Given the description of an element on the screen output the (x, y) to click on. 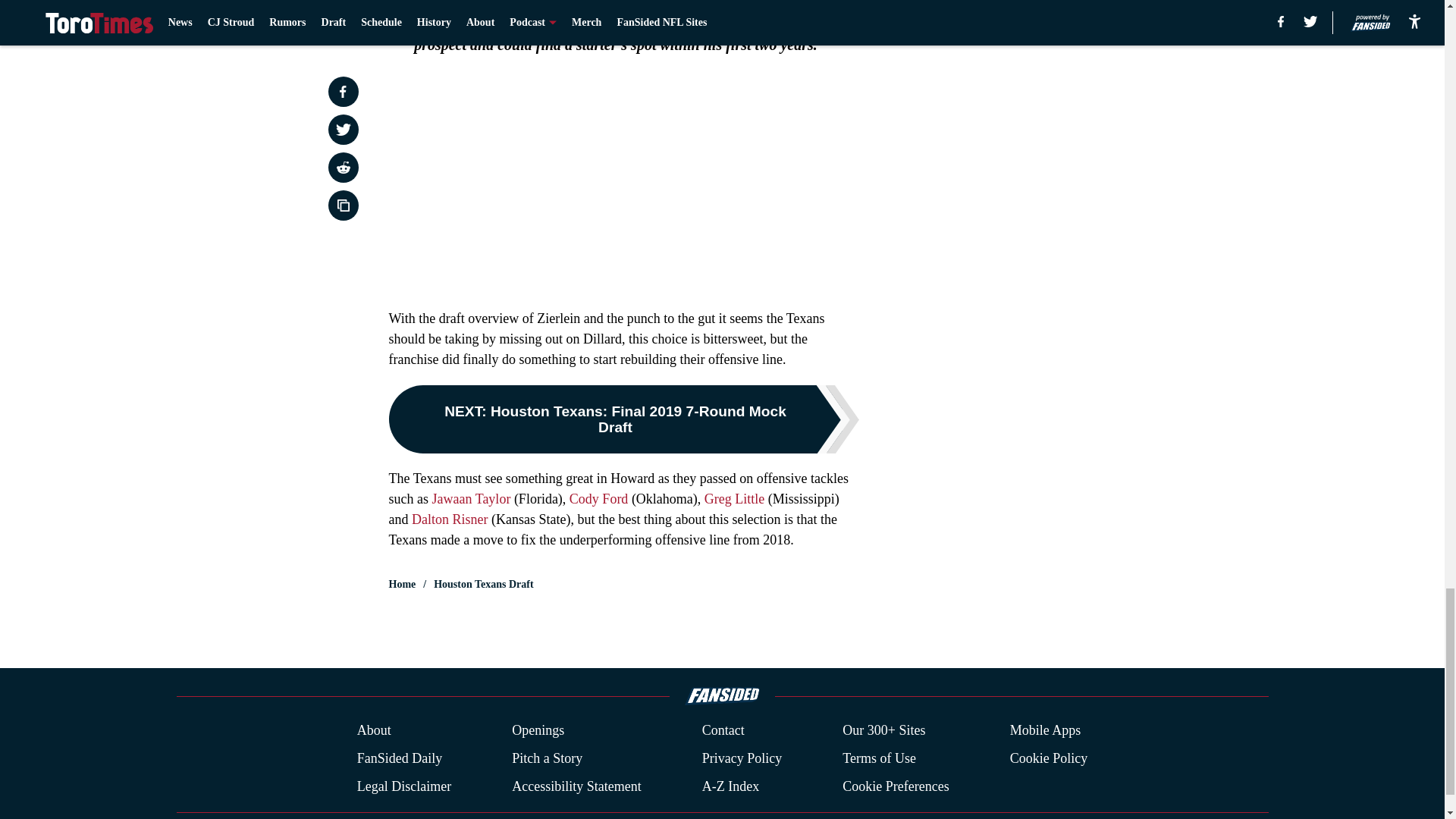
Greg Little (734, 498)
Cody Ford (598, 498)
Home (401, 584)
Jawaan Taylor (471, 498)
Dalton Risner (449, 519)
NEXT: Houston Texans: Final 2019 7-Round Mock Draft (623, 418)
Houston Texans Draft (482, 584)
